Given the description of an element on the screen output the (x, y) to click on. 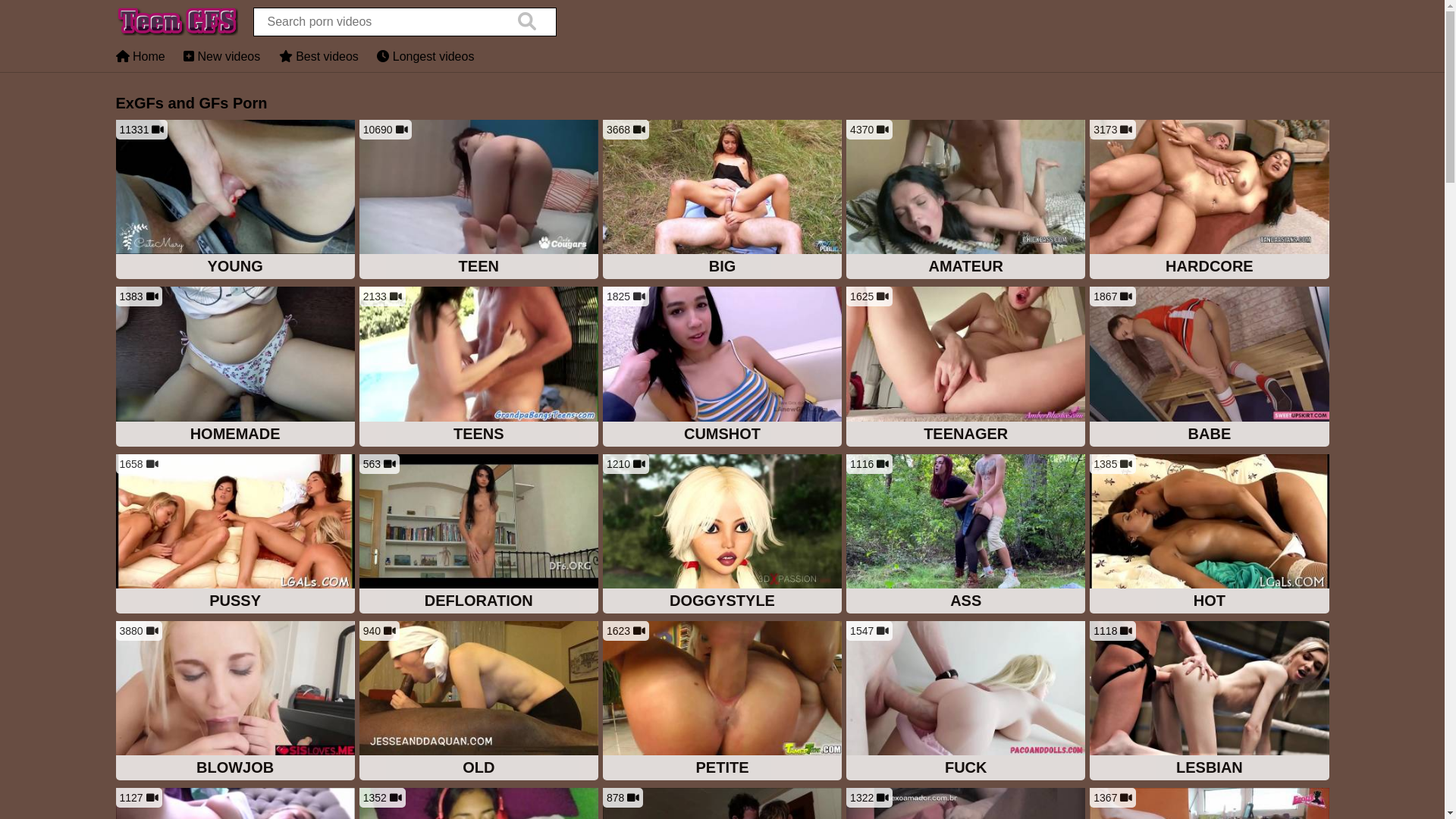
Longest videos Element type: text (424, 56)
11331
YOUNG Element type: text (234, 200)
3173
HARDCORE Element type: text (1208, 200)
1383
HOMEMADE Element type: text (234, 367)
2133
TEENS Element type: text (478, 367)
940
OLD Element type: text (478, 702)
1118
LESBIAN Element type: text (1208, 702)
3880
BLOWJOB Element type: text (234, 702)
1547
FUCK Element type: text (965, 702)
1658
PUSSY Element type: text (234, 535)
1867
BABE Element type: text (1208, 367)
10690
TEEN Element type: text (478, 200)
4370
AMATEUR Element type: text (965, 200)
563
DEFLORATION Element type: text (478, 535)
1210
DOGGYSTYLE Element type: text (721, 535)
New videos Element type: text (221, 56)
1385
HOT Element type: text (1208, 535)
1623
PETITE Element type: text (721, 702)
1625
TEENAGER Element type: text (965, 367)
1825
CUMSHOT Element type: text (721, 367)
3668
BIG Element type: text (721, 200)
Best videos Element type: text (318, 56)
1116
ASS Element type: text (965, 535)
Home Element type: text (139, 56)
